Given the description of an element on the screen output the (x, y) to click on. 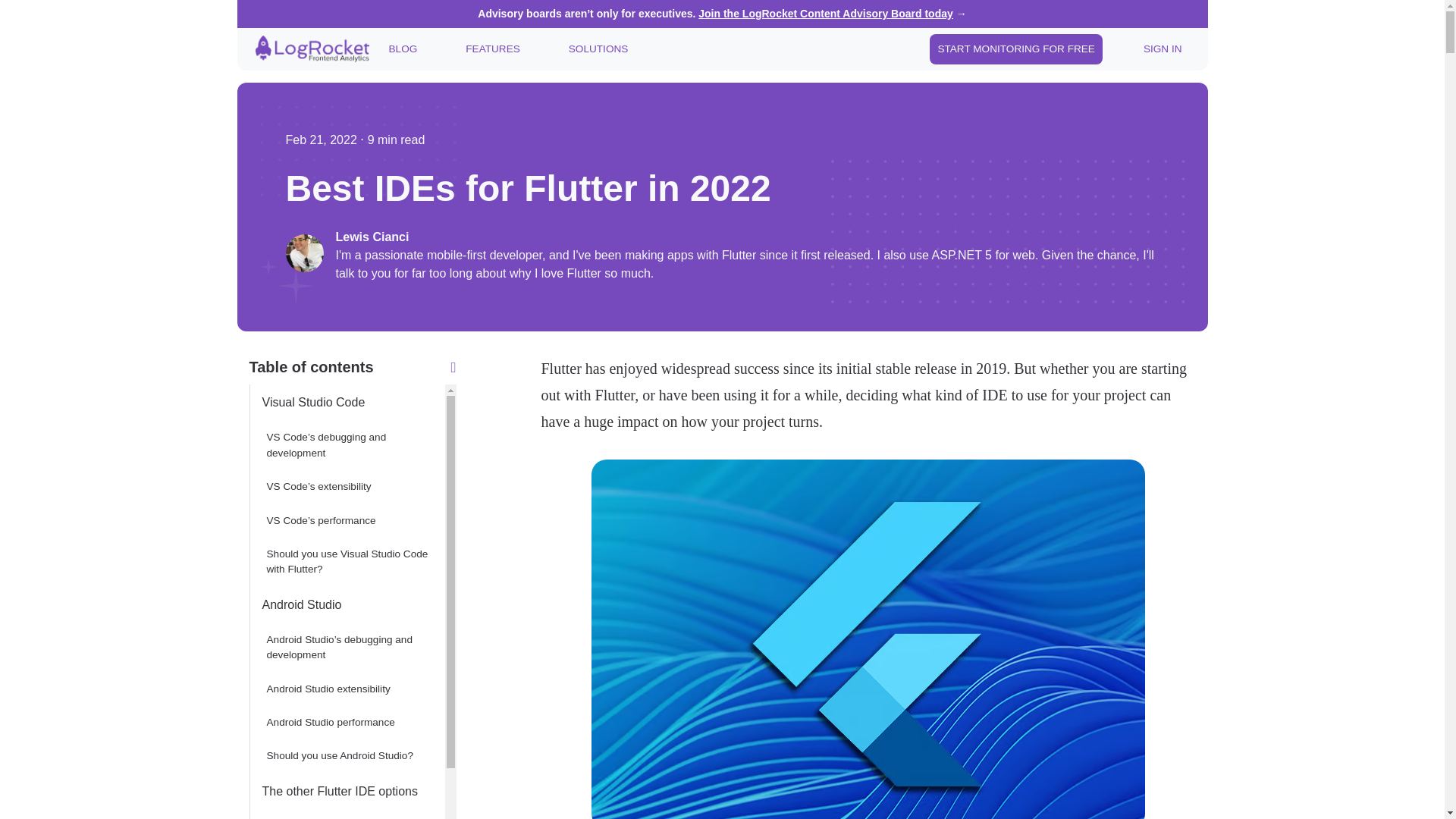
Should you use Android Studio? (346, 756)
SIGN IN (1162, 49)
FEATURES (492, 49)
BLOG (402, 49)
IntelliJ IDEA Community Edition (346, 814)
Android Studio extensibility (346, 688)
Should you use Visual Studio Code with Flutter? (346, 562)
Lewis Cianci (746, 237)
SOLUTIONS (598, 49)
START MONITORING FOR FREE (1016, 49)
